Given the description of an element on the screen output the (x, y) to click on. 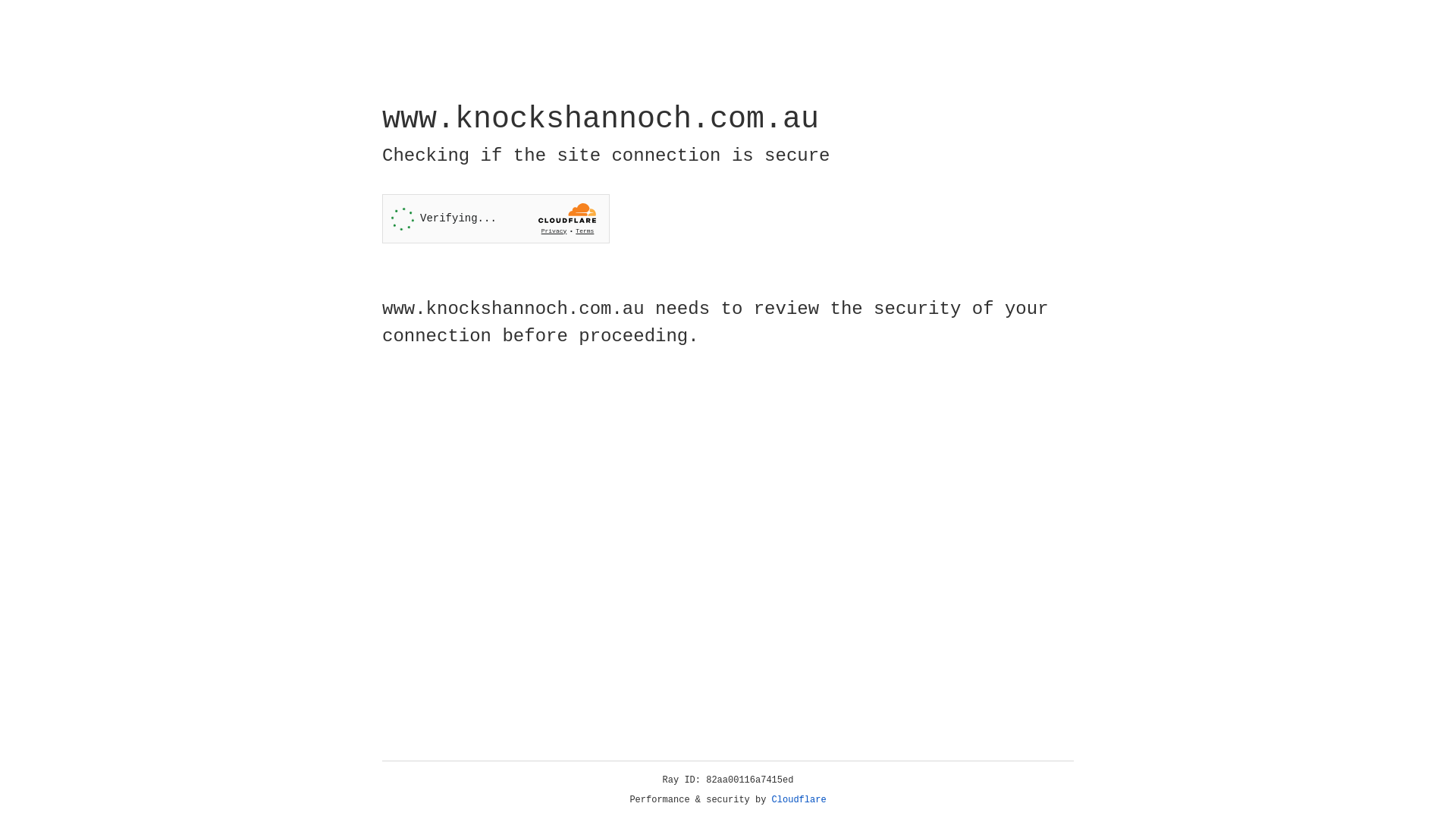
Cloudflare Element type: text (798, 799)
Widget containing a Cloudflare security challenge Element type: hover (495, 218)
